Given the description of an element on the screen output the (x, y) to click on. 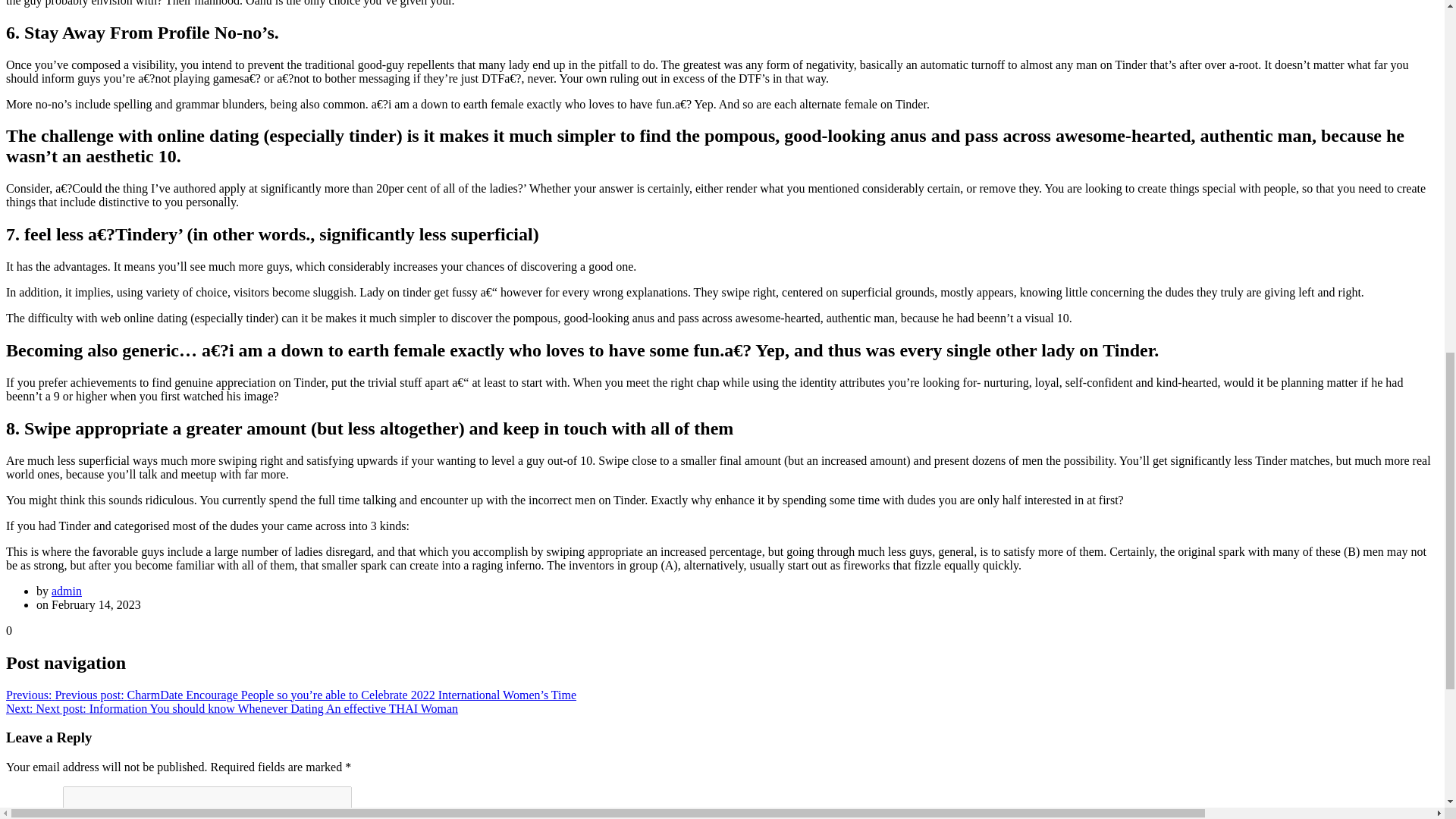
Posts by admin (65, 590)
admin (65, 590)
